Given the description of an element on the screen output the (x, y) to click on. 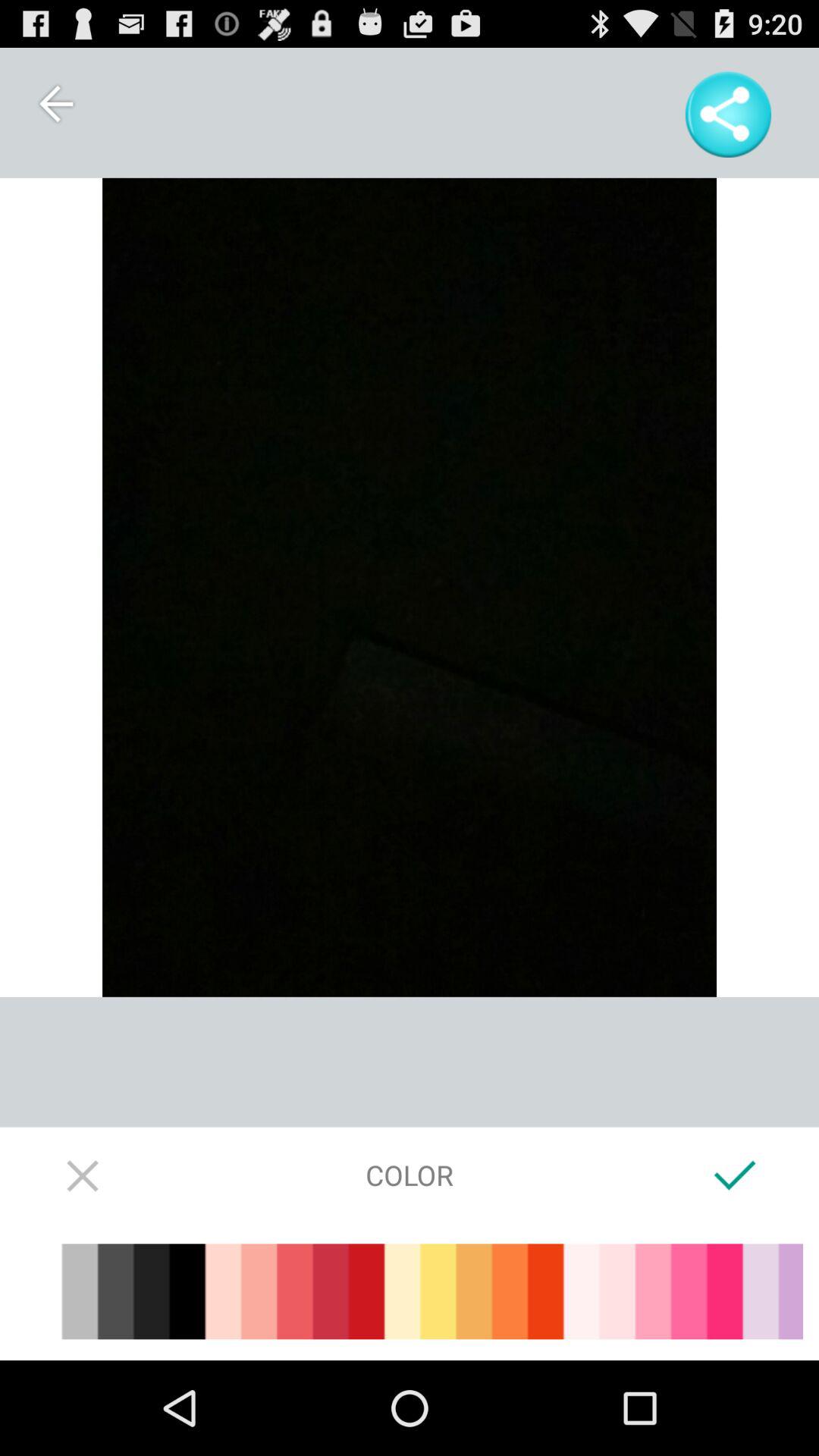
launch the icon next to color icon (83, 1174)
